Given the description of an element on the screen output the (x, y) to click on. 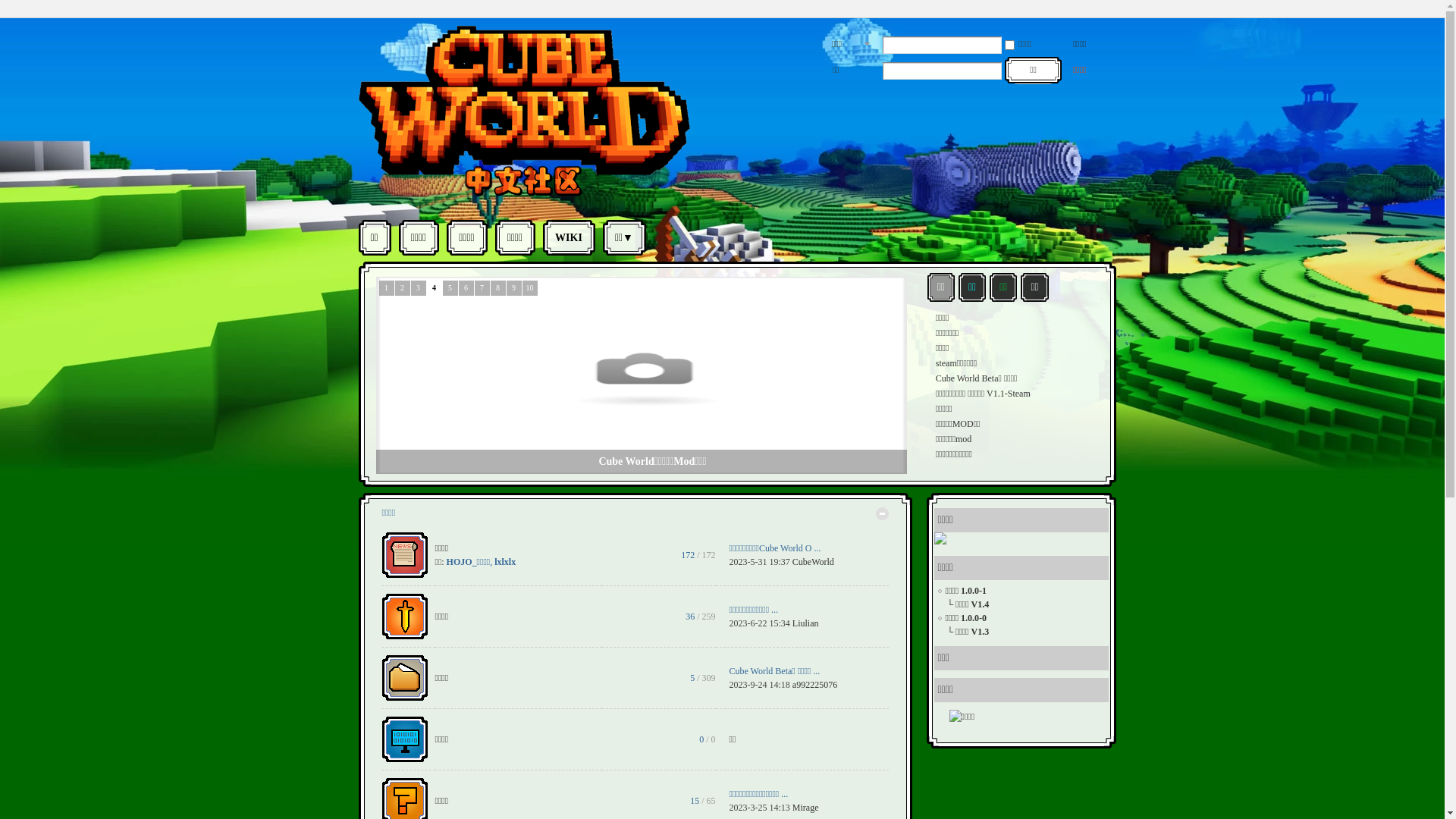
WIKI Element type: text (568, 237)
CubeWorld Element type: text (813, 561)
Liulian Element type: text (805, 623)
lxlxlx Element type: text (504, 561)
a992225076 Element type: text (814, 684)
Mirage Element type: text (805, 807)
